Given the description of an element on the screen output the (x, y) to click on. 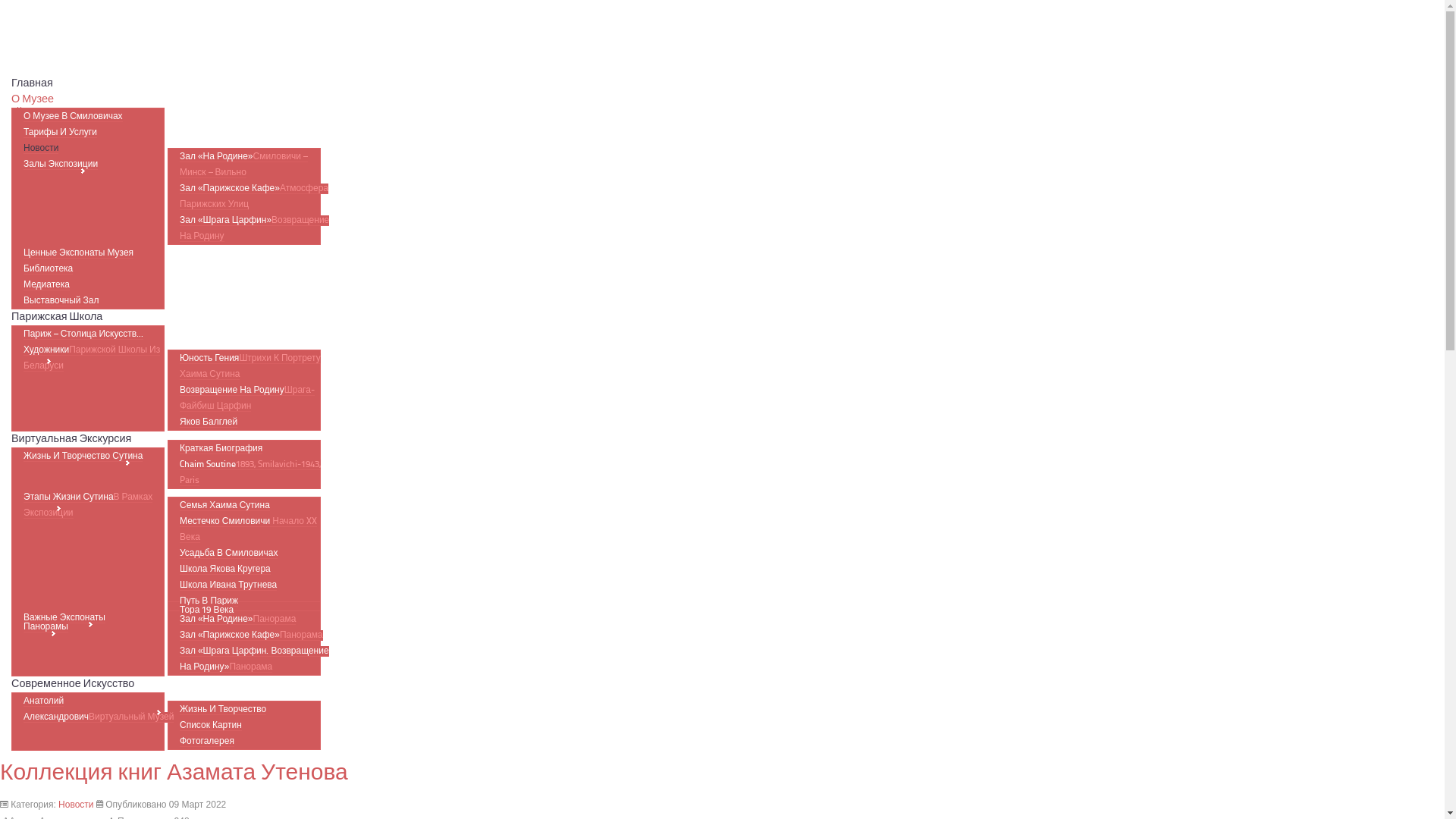
Chaim Soutine1893, Smilavichi-1943, Paris Element type: text (249, 472)
